Given the description of an element on the screen output the (x, y) to click on. 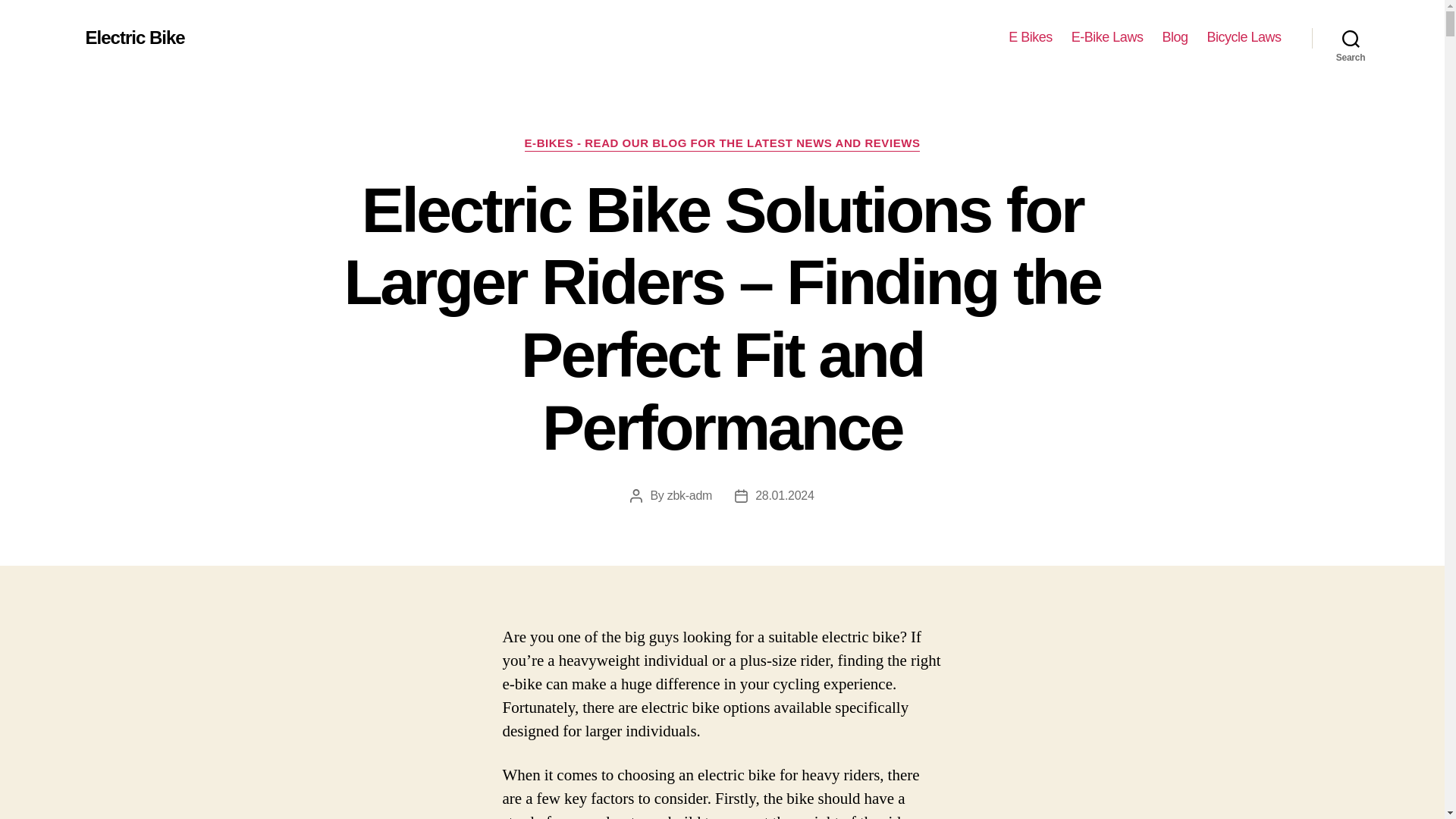
Electric Bike (134, 37)
Search (1350, 37)
E-Bike Laws (1106, 37)
Blog (1174, 37)
28.01.2024 (784, 495)
E Bikes (1030, 37)
Bicycle Laws (1244, 37)
zbk-adm (688, 495)
E-BIKES - READ OUR BLOG FOR THE LATEST NEWS AND REVIEWS (722, 143)
